Given the description of an element on the screen output the (x, y) to click on. 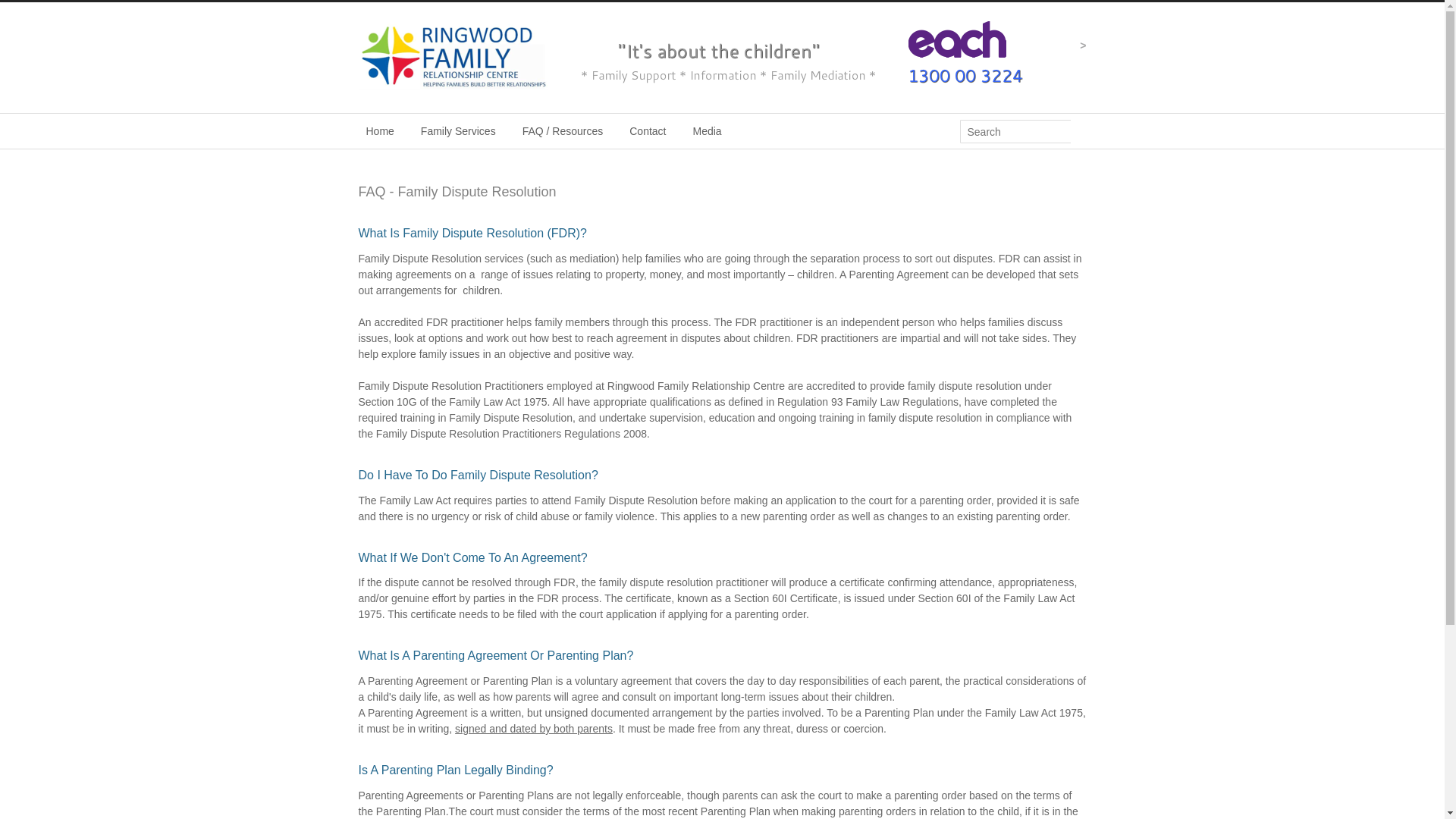
Media Element type: text (707, 130)
Home Element type: text (379, 130)
Contact Element type: text (647, 130)
Family Services Element type: text (458, 130)
FAQ / Resources Element type: text (562, 130)
